Given the description of an element on the screen output the (x, y) to click on. 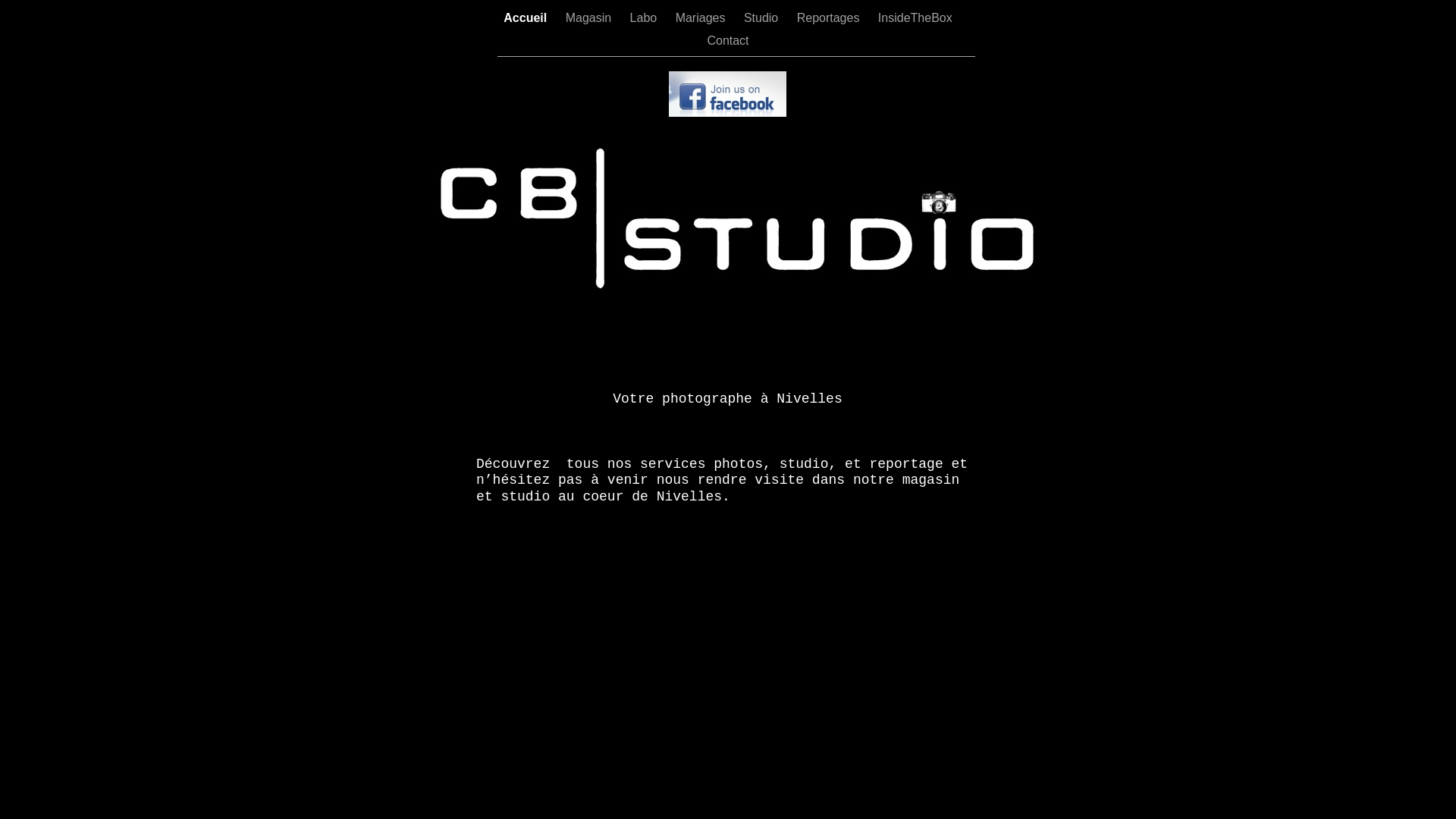
Accueil Element type: text (526, 17)
Studio Element type: text (762, 17)
Labo Element type: text (645, 17)
Magasin Element type: text (590, 17)
http://www.facebook.com/cbstudionivelles Element type: hover (727, 112)
Mariages Element type: text (701, 17)
InsideTheBox Element type: text (915, 17)
Contact Element type: text (727, 40)
Reportages Element type: text (829, 17)
